Given the description of an element on the screen output the (x, y) to click on. 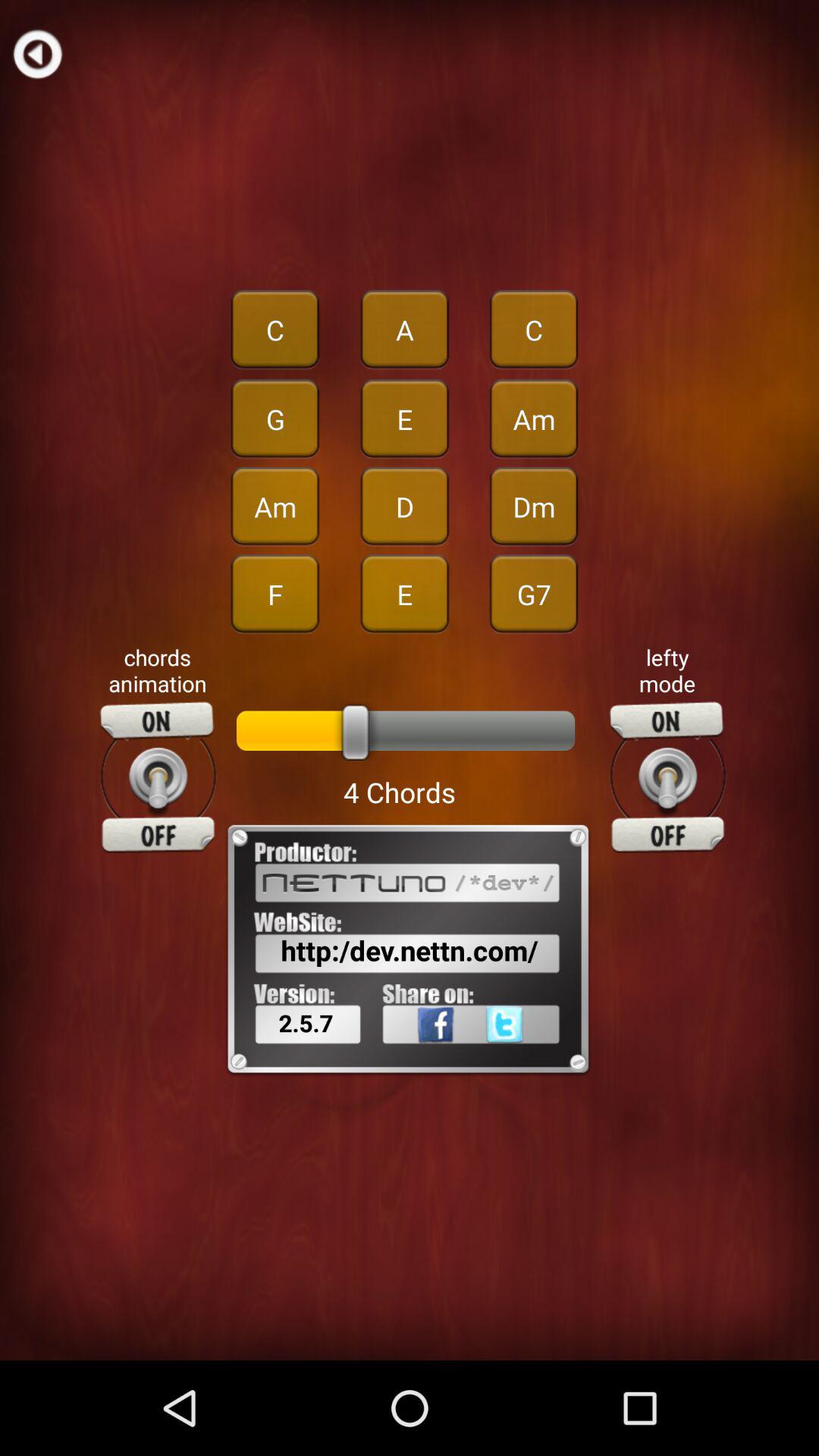
choose the icon below the chords
animation item (157, 777)
